Given the description of an element on the screen output the (x, y) to click on. 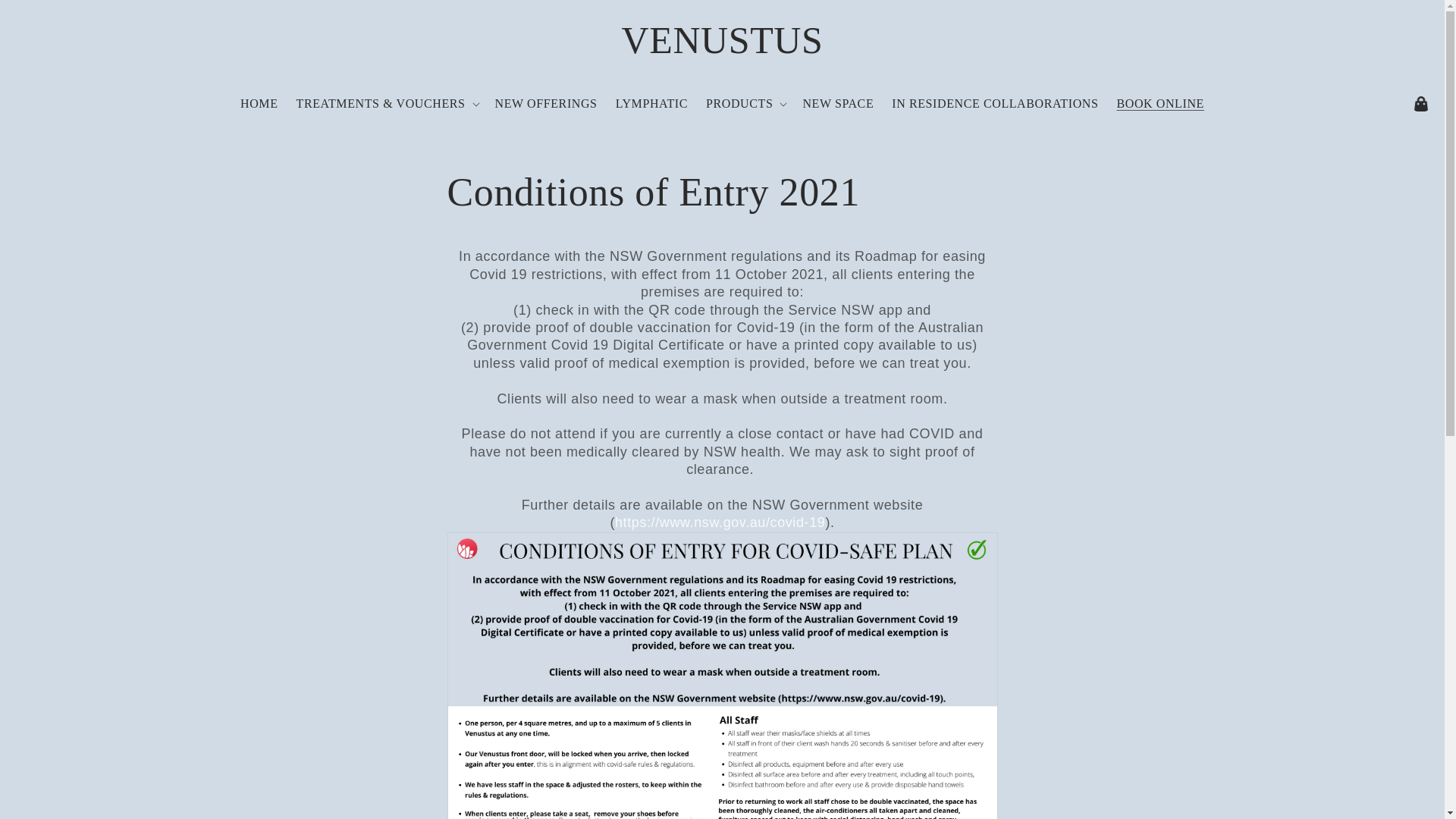
NEW OFFERINGS (546, 103)
Skip to content (45, 17)
VENUSTUS (721, 39)
LYMPHATIC (652, 103)
HOME (258, 103)
